Given the description of an element on the screen output the (x, y) to click on. 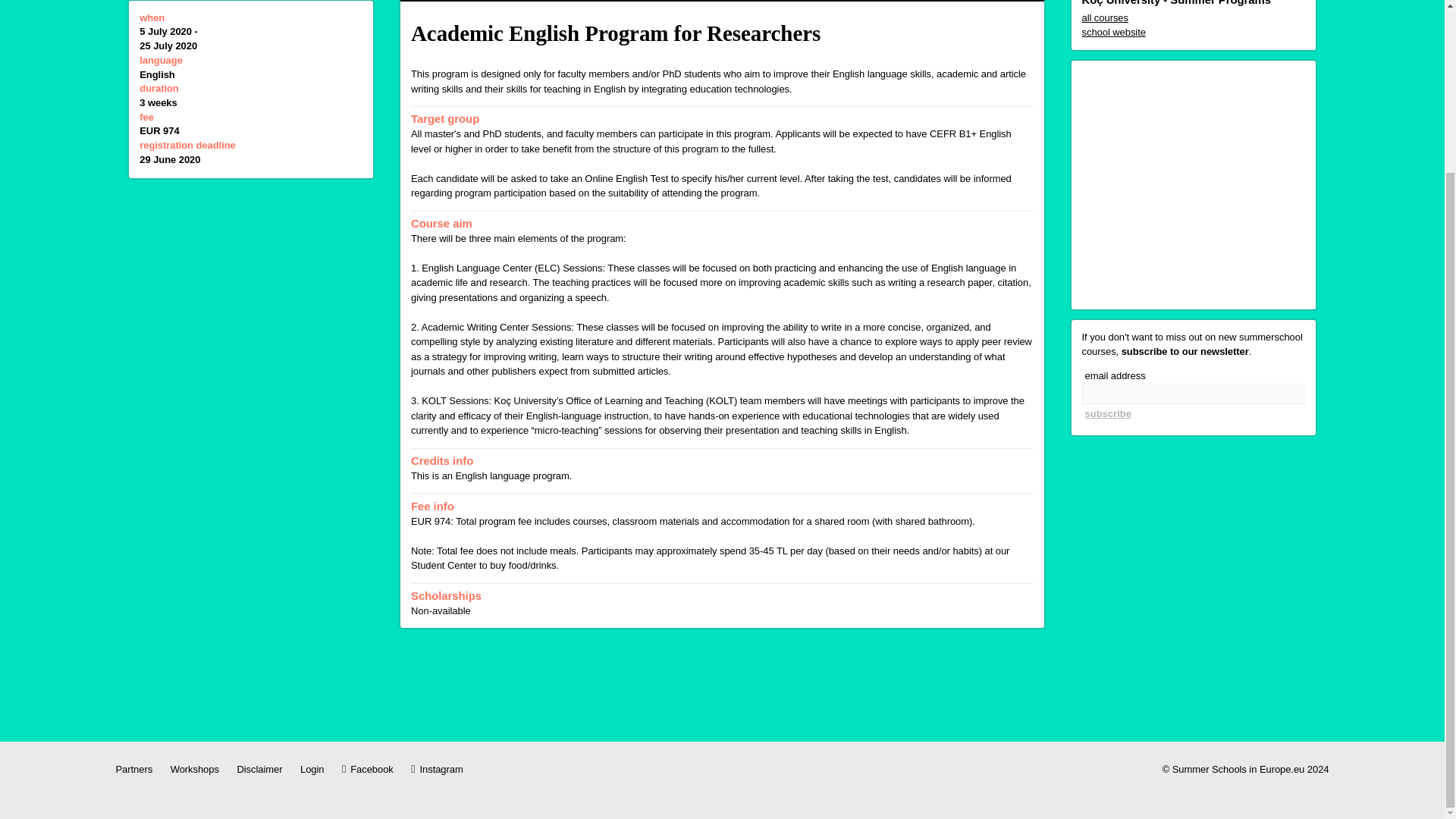
Facebook (367, 768)
school website (1192, 32)
Instagram (436, 768)
Partners (133, 768)
Login (311, 768)
all courses (1192, 18)
subscribe (1107, 414)
Disclaimer (258, 768)
Workshops (194, 768)
subscribe (1107, 414)
